Given the description of an element on the screen output the (x, y) to click on. 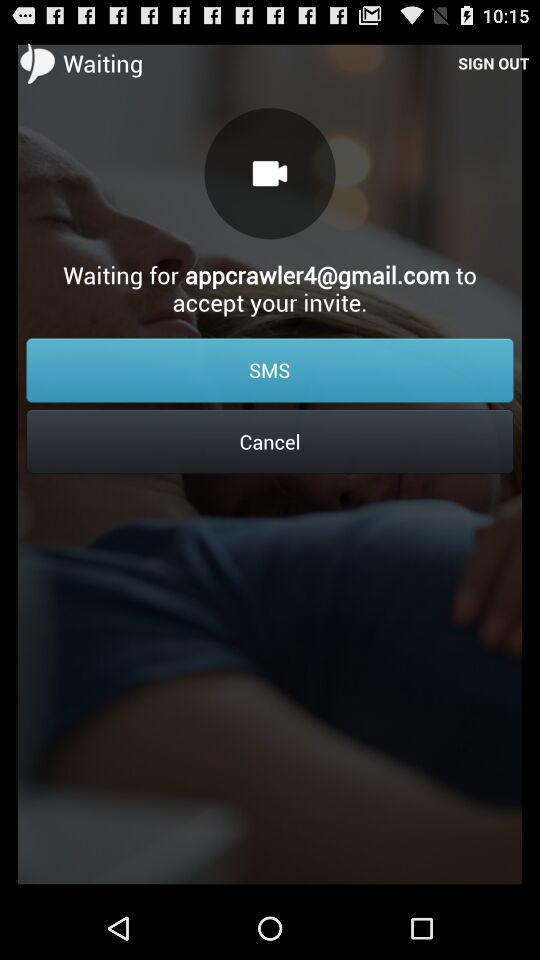
flip to the sms icon (269, 369)
